Given the description of an element on the screen output the (x, y) to click on. 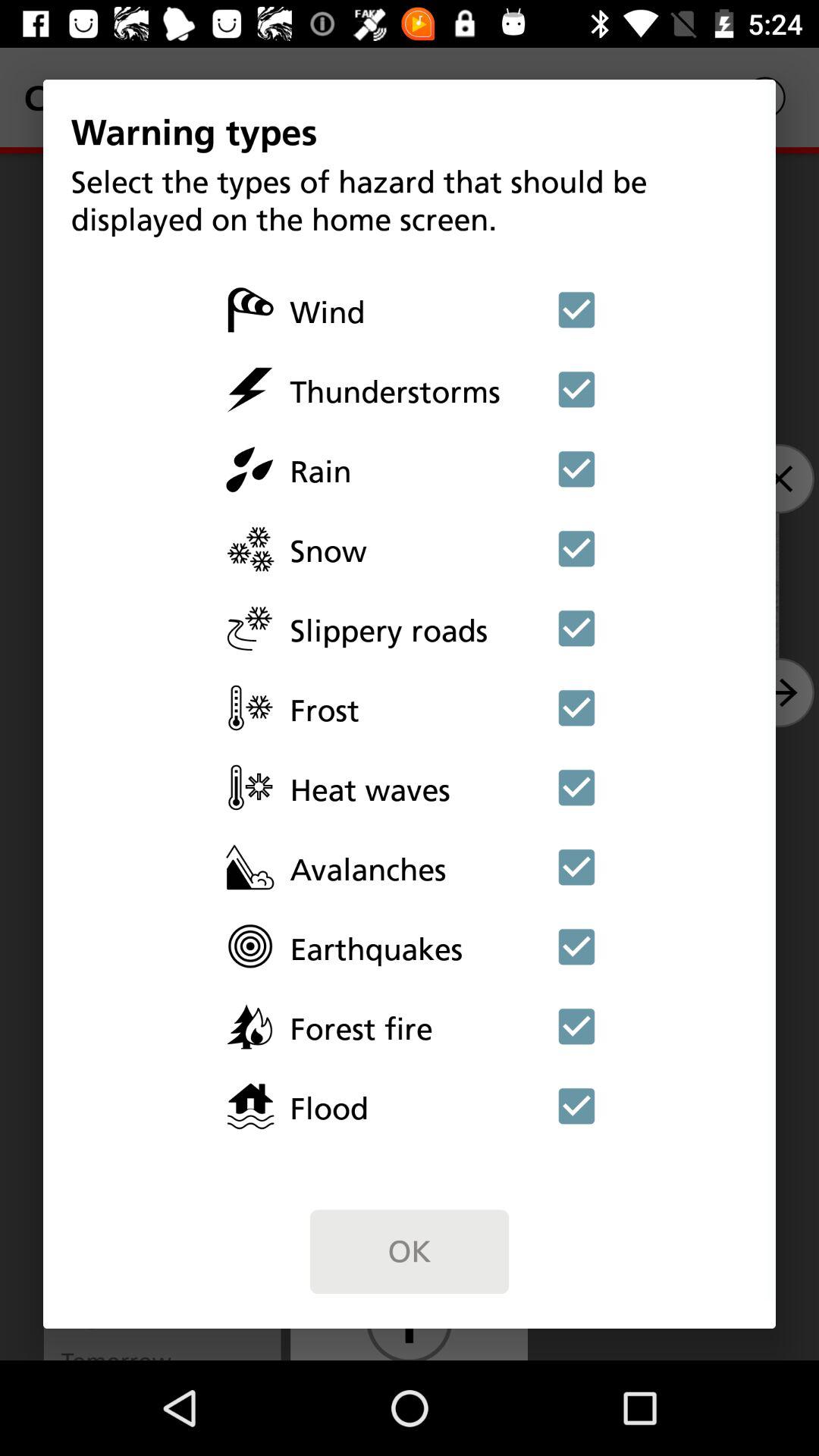
unselect snow (576, 548)
